Given the description of an element on the screen output the (x, y) to click on. 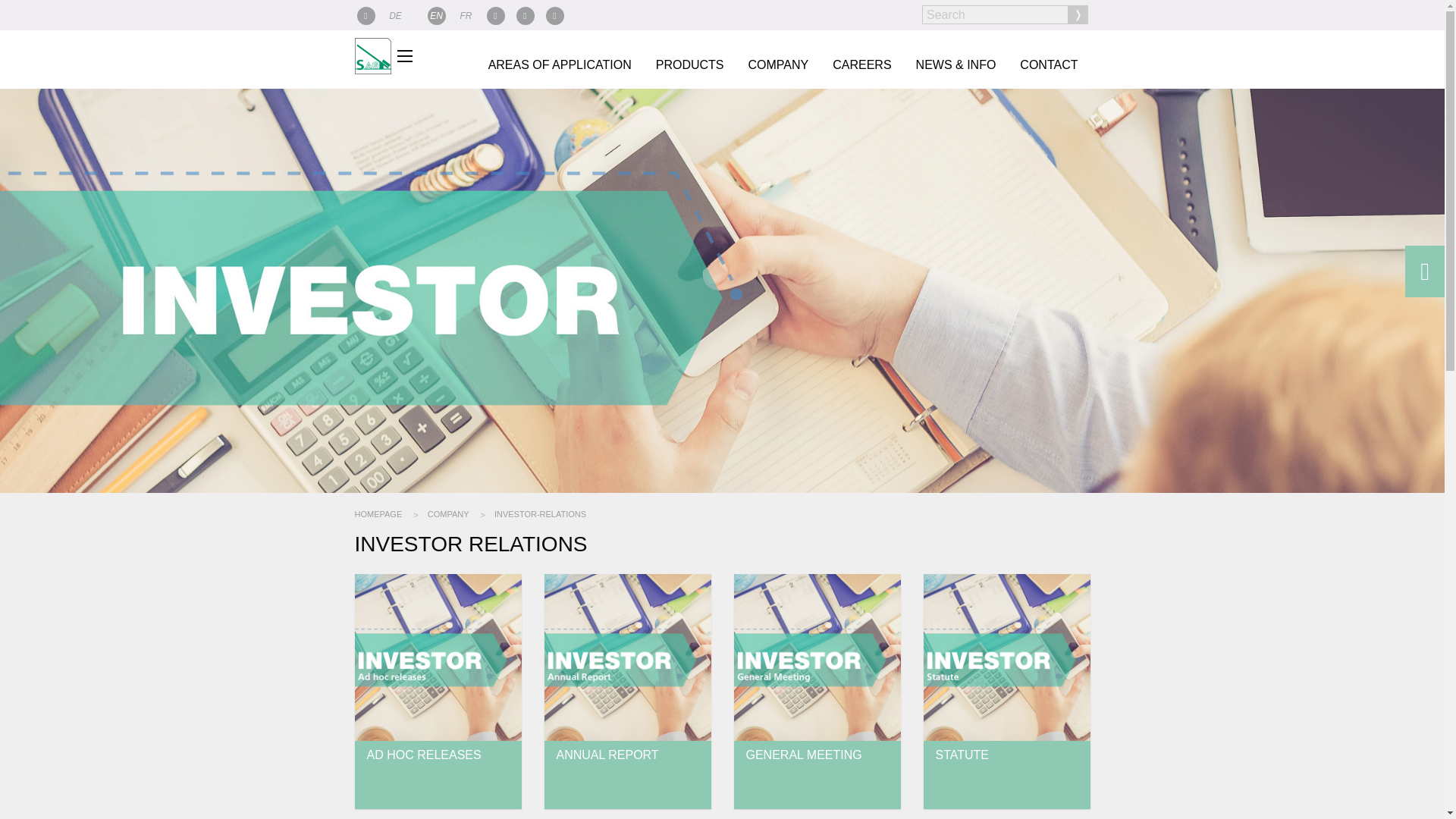
AREAS OF APPLICATION (559, 65)
Portal (365, 11)
EN (436, 11)
Areas of application (559, 65)
Startseite (373, 54)
FR (465, 11)
DE (395, 11)
